Given the description of an element on the screen output the (x, y) to click on. 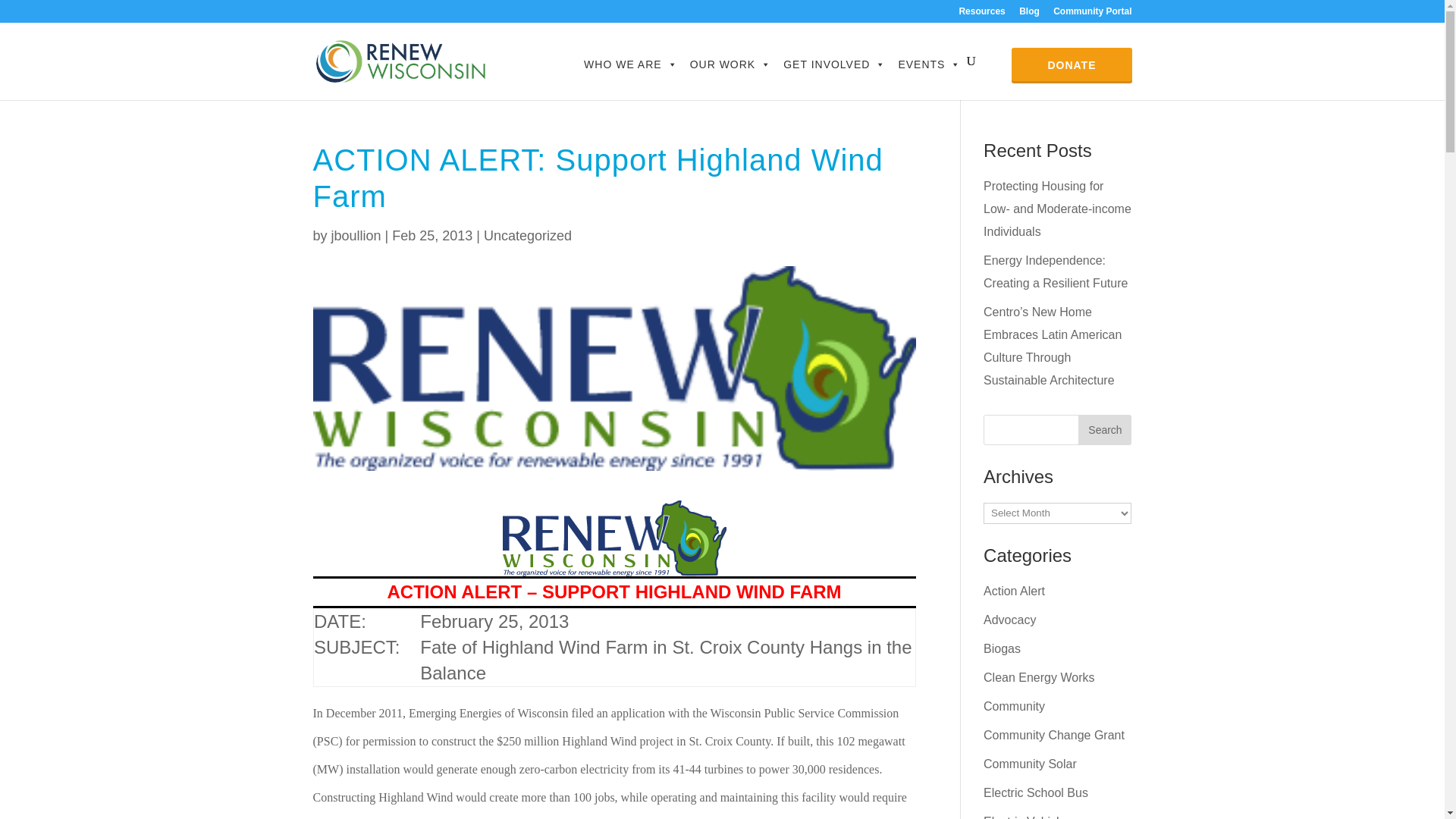
EVENTS (928, 64)
Resources (981, 14)
Uncategorized (527, 235)
OUR WORK (730, 64)
DONATE (1071, 64)
Blog (1029, 14)
GET INVOLVED (834, 64)
Community Portal (1091, 14)
WHO WE ARE (631, 64)
Posts by jboullion (356, 235)
jboullion (356, 235)
Search (1104, 429)
